Given the description of an element on the screen output the (x, y) to click on. 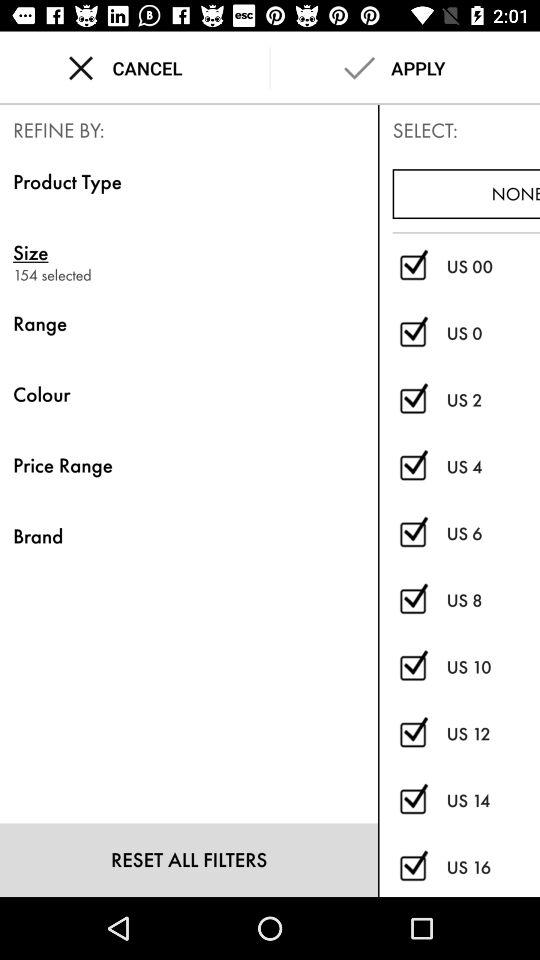
us 10 checkbox (412, 667)
